Given the description of an element on the screen output the (x, y) to click on. 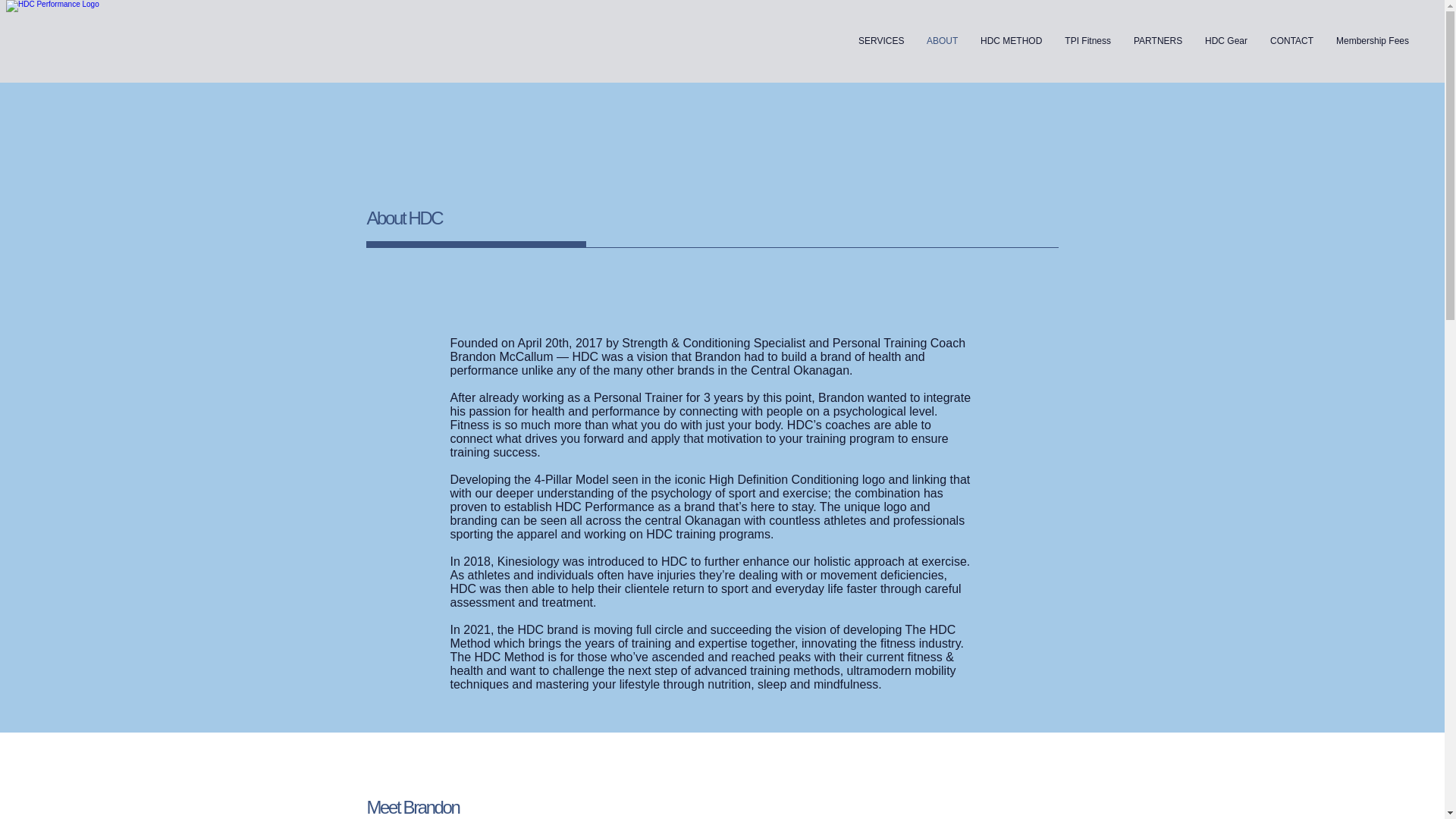
HDC Gear (1226, 40)
CONTACT (1291, 40)
PARTNERS (1157, 40)
ABOUT (942, 40)
TPI Fitness (1087, 40)
SERVICES (881, 40)
HDC METHOD (1010, 40)
Membership Fees (1372, 40)
